Given the description of an element on the screen output the (x, y) to click on. 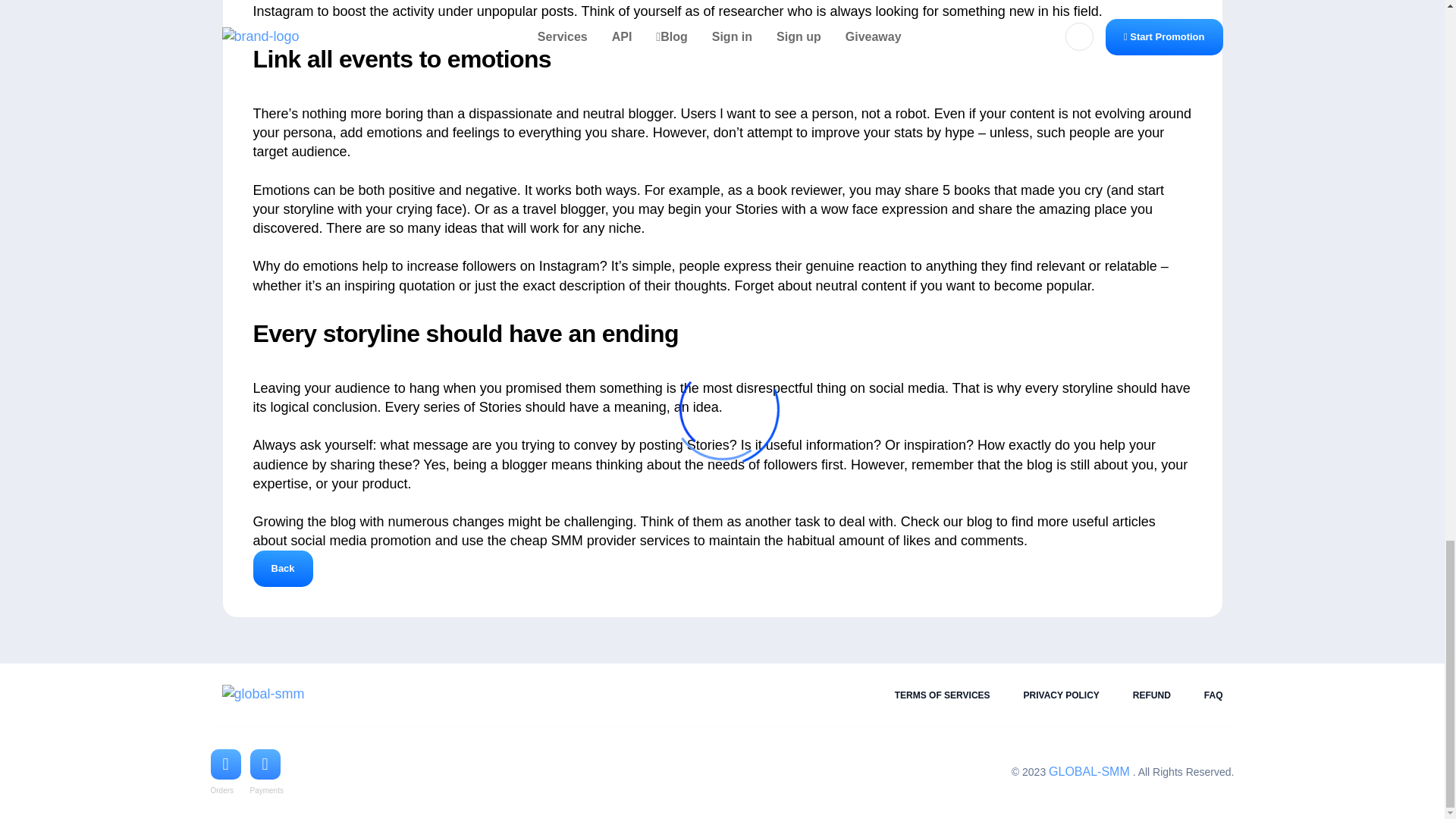
GLOBAL-SMM (1088, 771)
PRIVACY POLICY (1061, 695)
Back (283, 568)
FAQ (1213, 695)
REFUND (1151, 695)
TERMS OF SERVICES (942, 695)
our blog (967, 521)
